Given the description of an element on the screen output the (x, y) to click on. 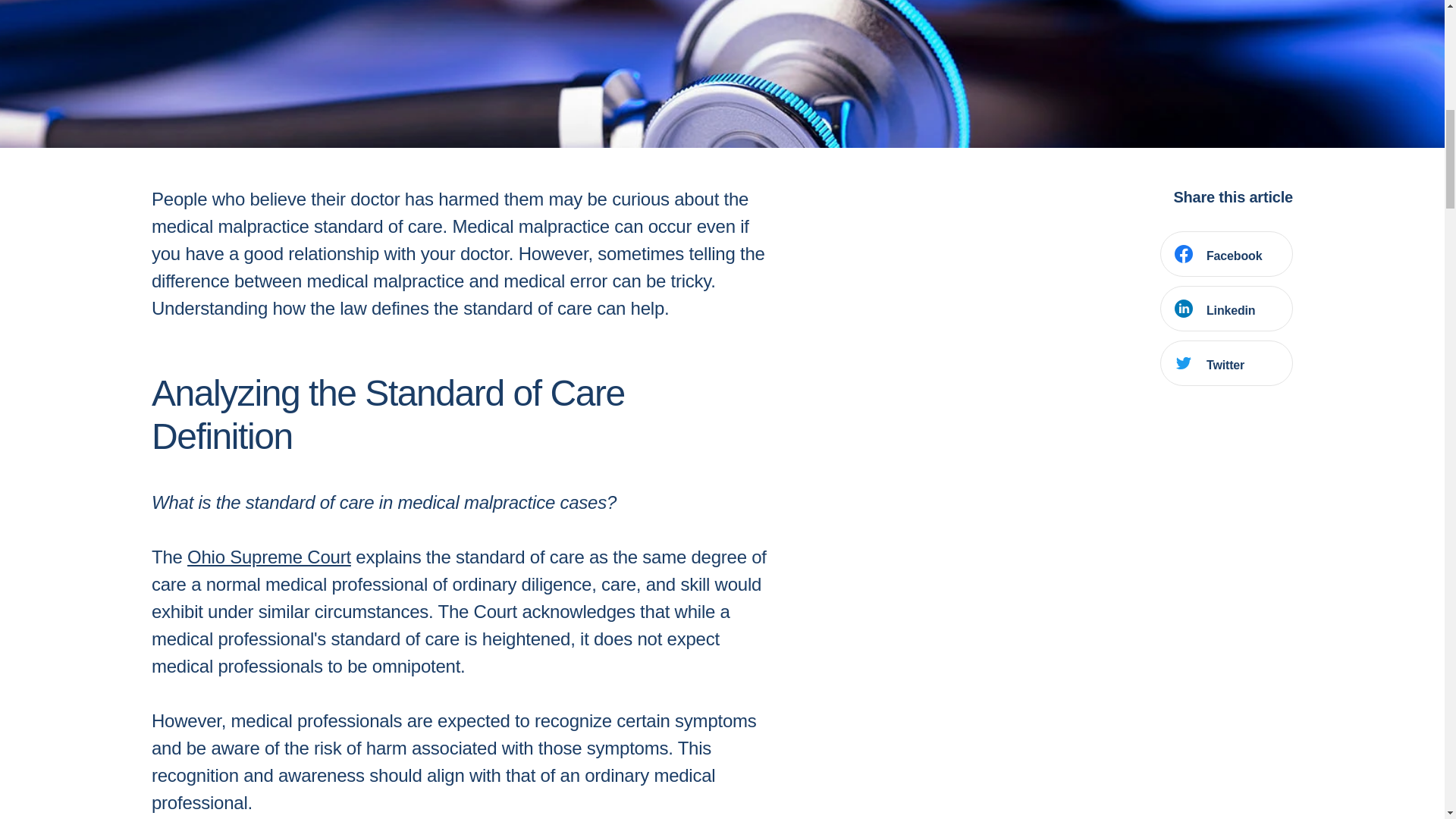
Ohio Supreme Court (268, 557)
